Given the description of an element on the screen output the (x, y) to click on. 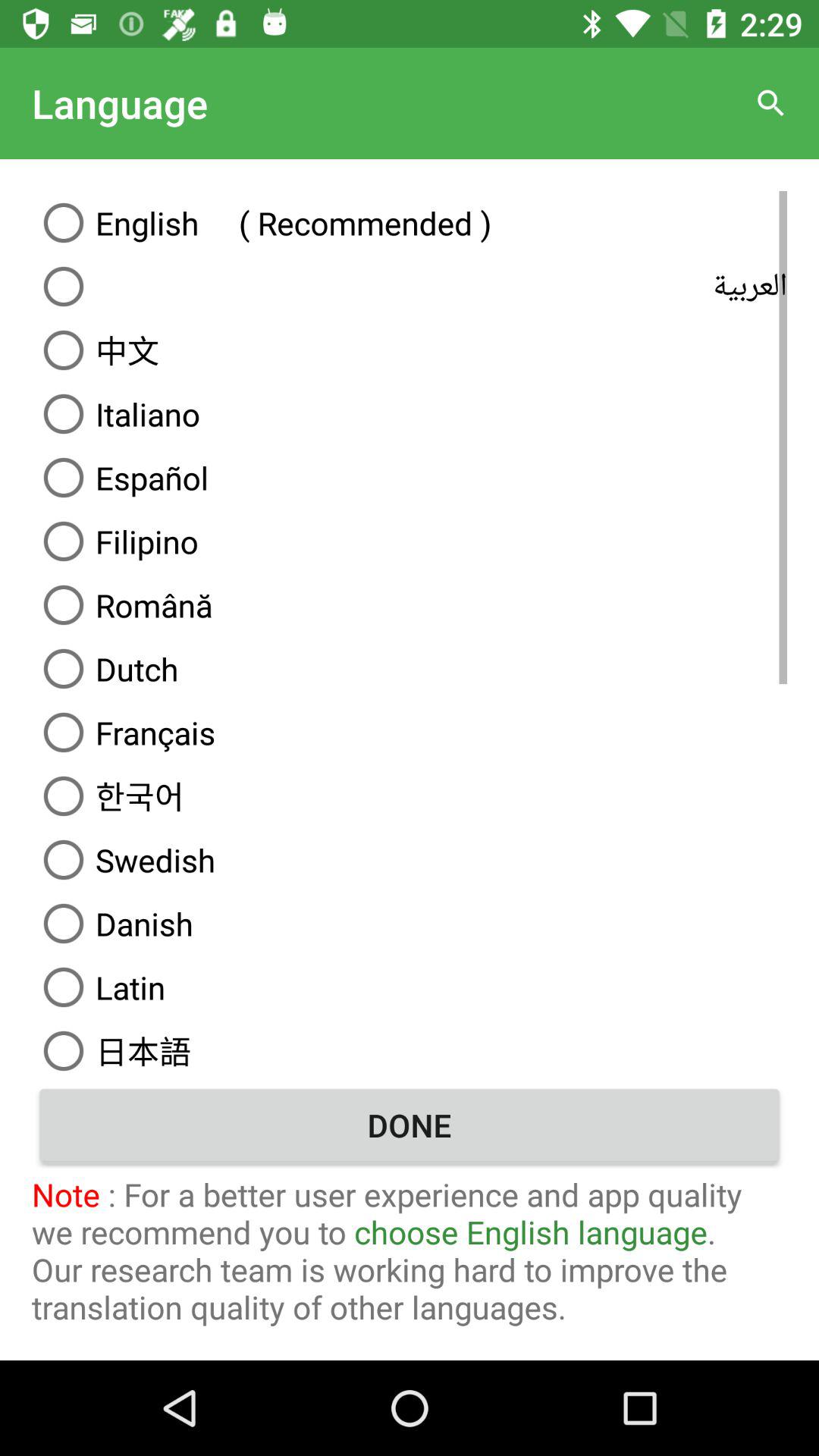
scroll until the english     ( recommended ) (409, 222)
